Given the description of an element on the screen output the (x, y) to click on. 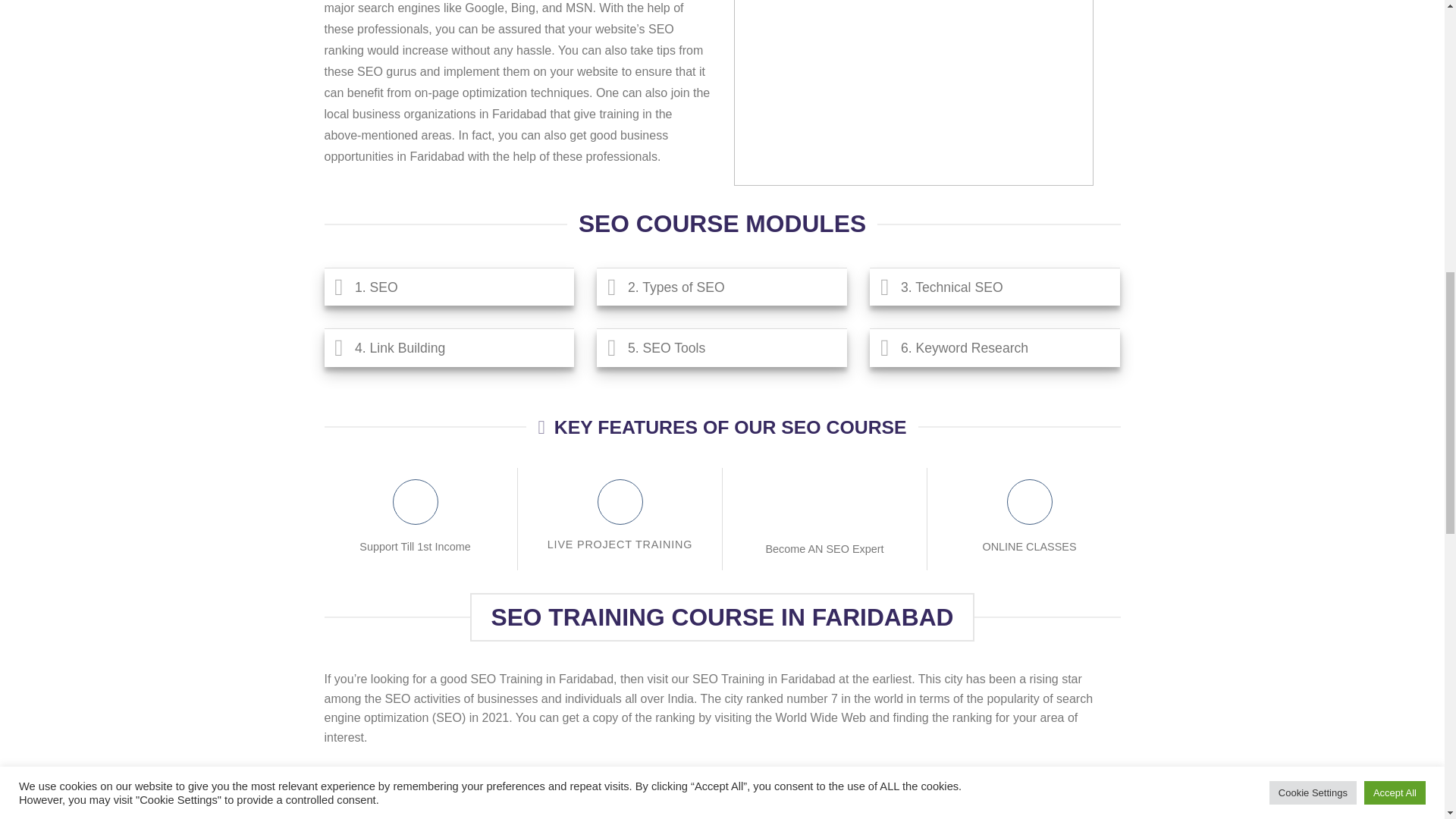
1. SEO (449, 286)
3. Technical SEO (994, 286)
6. Keyword Research (994, 347)
2. Types of SEO (721, 286)
5. SEO Tools (721, 347)
4. Link Building (449, 347)
